Given the description of an element on the screen output the (x, y) to click on. 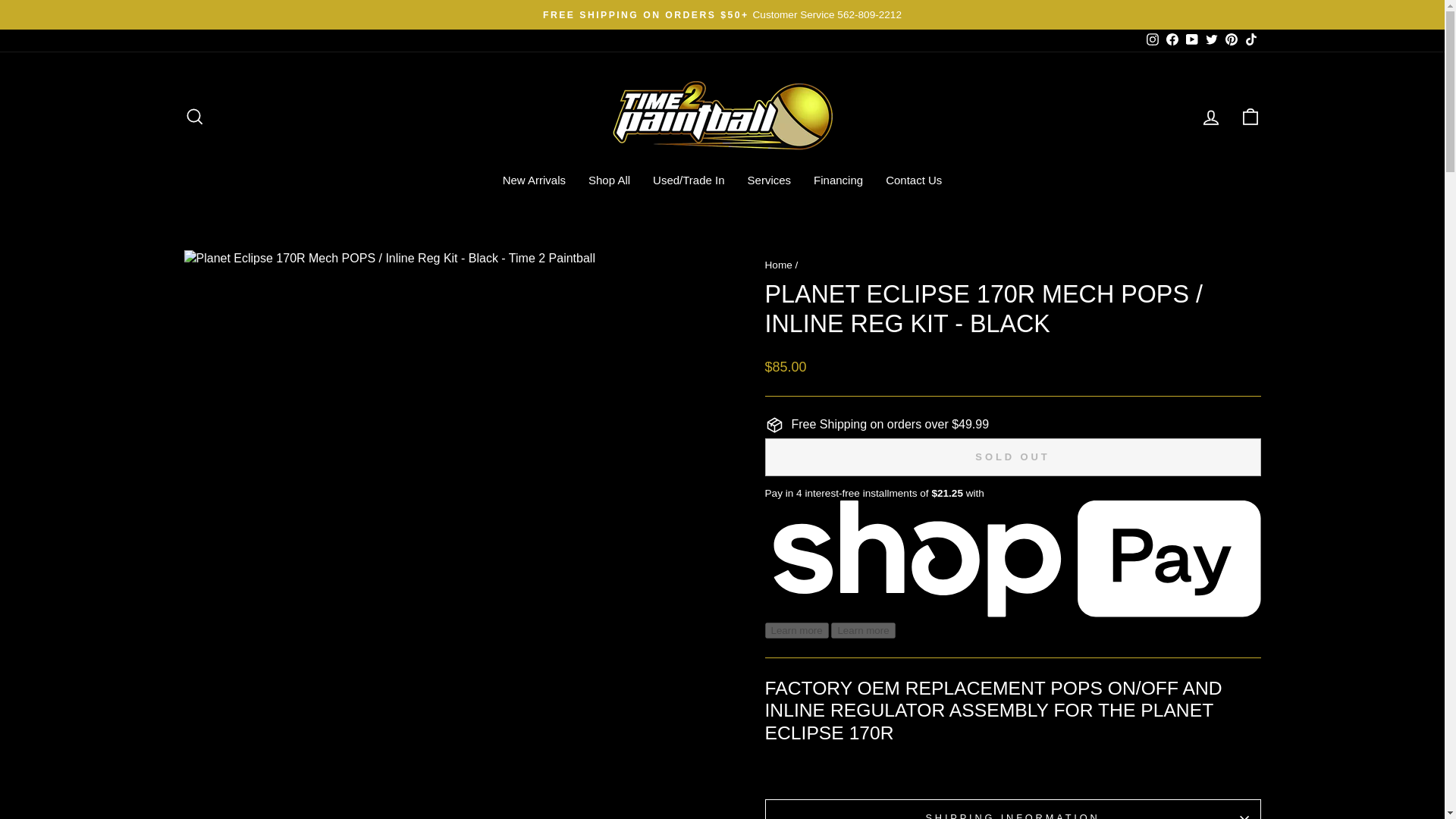
Time 2 Paintball on TikTok (1250, 40)
Time 2 Paintball on YouTube (1190, 40)
TikTok (1250, 40)
Instagram (1151, 40)
Time 2 Paintball on Pinterest (1230, 40)
Cart (1249, 116)
Search (194, 116)
Time 2 Paintball on Instagram (1151, 40)
Services (769, 179)
Shop All (609, 179)
Time 2 Paintball on Facebook (1170, 40)
Back to the frontpage (778, 265)
Financing (838, 179)
Pinterest (1230, 40)
